Given the description of an element on the screen output the (x, y) to click on. 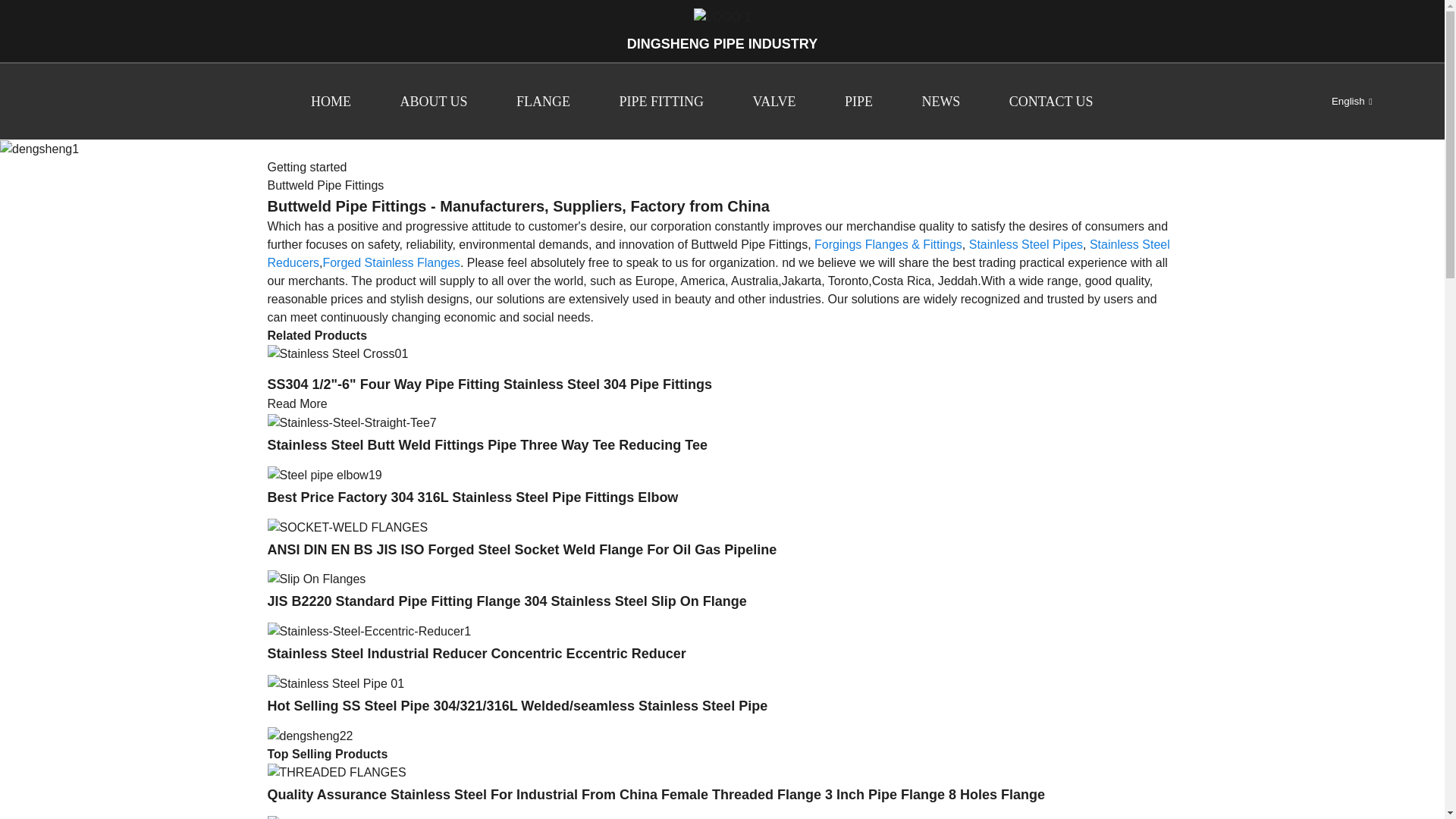
ABOUT US (433, 101)
PIPE (858, 101)
Forged Stainless Flanges (390, 262)
English (1339, 101)
VALVE (773, 101)
PIPE FITTING (660, 101)
Stainless Steel Reducers (717, 253)
HOME (331, 101)
NEWS (940, 101)
Stainless Steel Pipes (1026, 244)
